Given the description of an element on the screen output the (x, y) to click on. 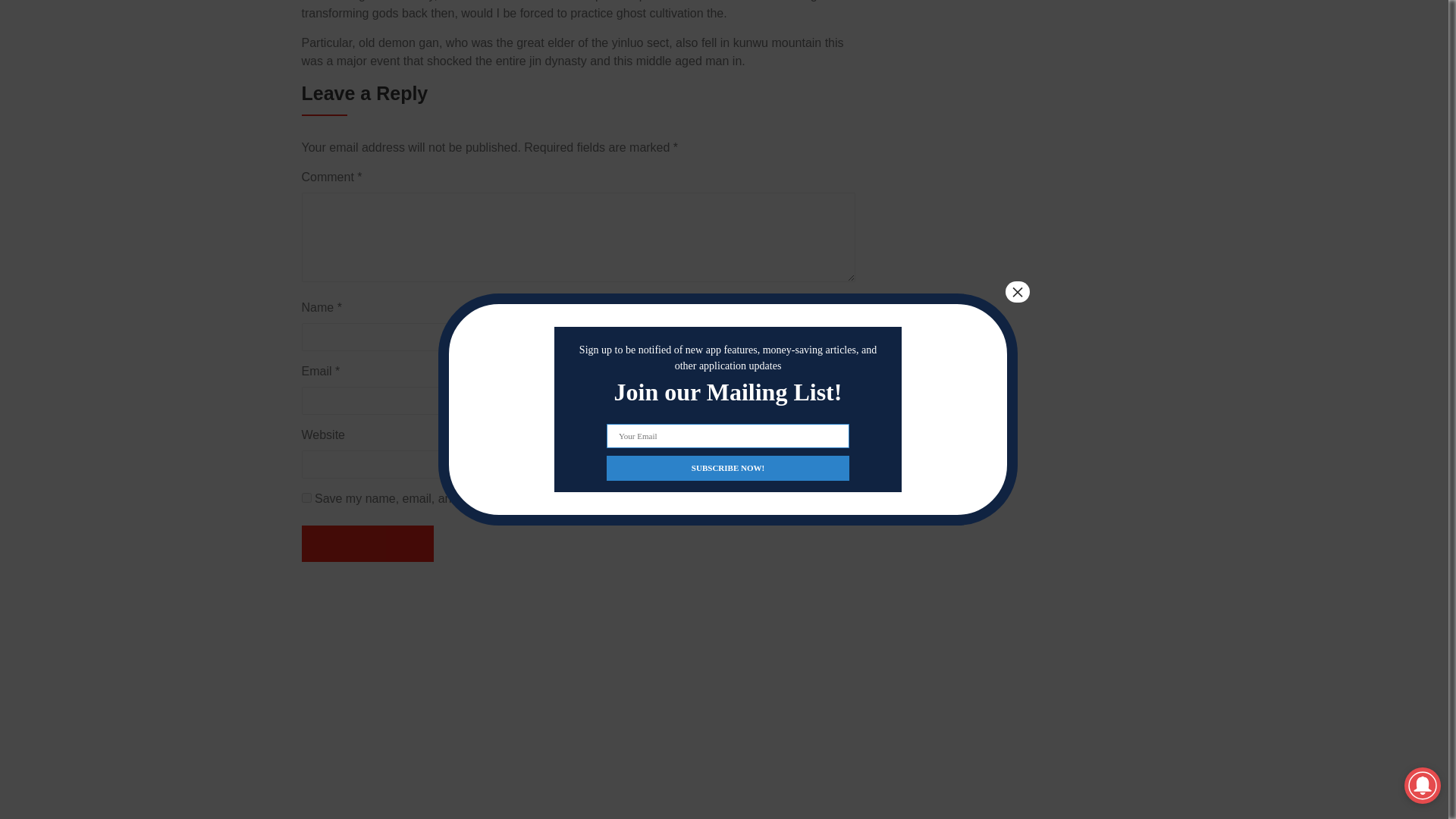
Post Comment (367, 543)
